Given the description of an element on the screen output the (x, y) to click on. 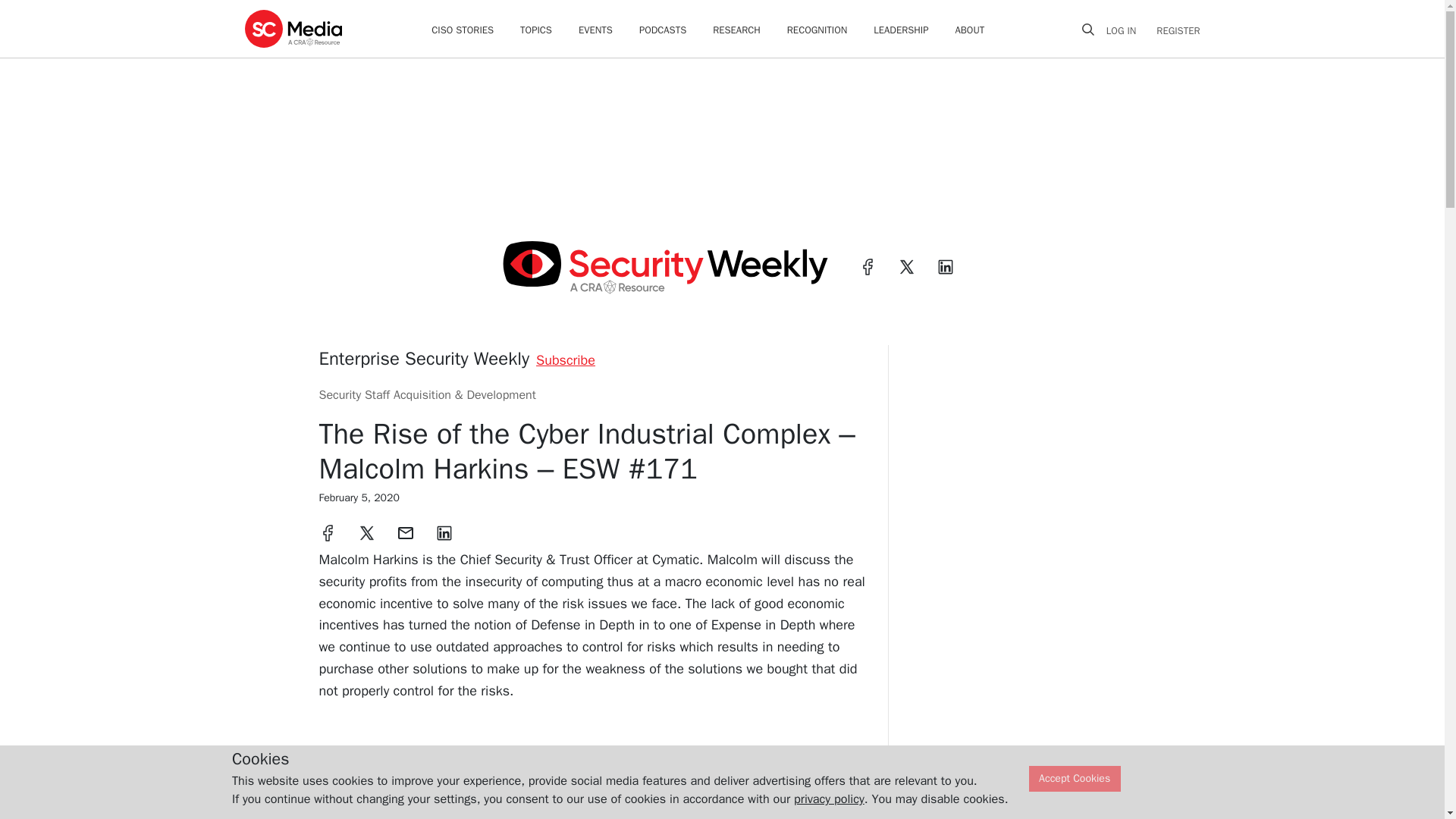
ABOUT (970, 30)
CISO STORIES (461, 30)
LOG IN (1126, 30)
PODCASTS (662, 30)
EVENTS (595, 30)
Enterprise Security Weekly (423, 358)
SC Media (292, 27)
twitter (906, 266)
facebook (868, 266)
Share on Facebook (327, 533)
LEADERSHIP (900, 30)
RECOGNITION (817, 30)
Share on Twitter (366, 533)
TOPICS (535, 30)
Share on LinkedIn (443, 533)
